Given the description of an element on the screen output the (x, y) to click on. 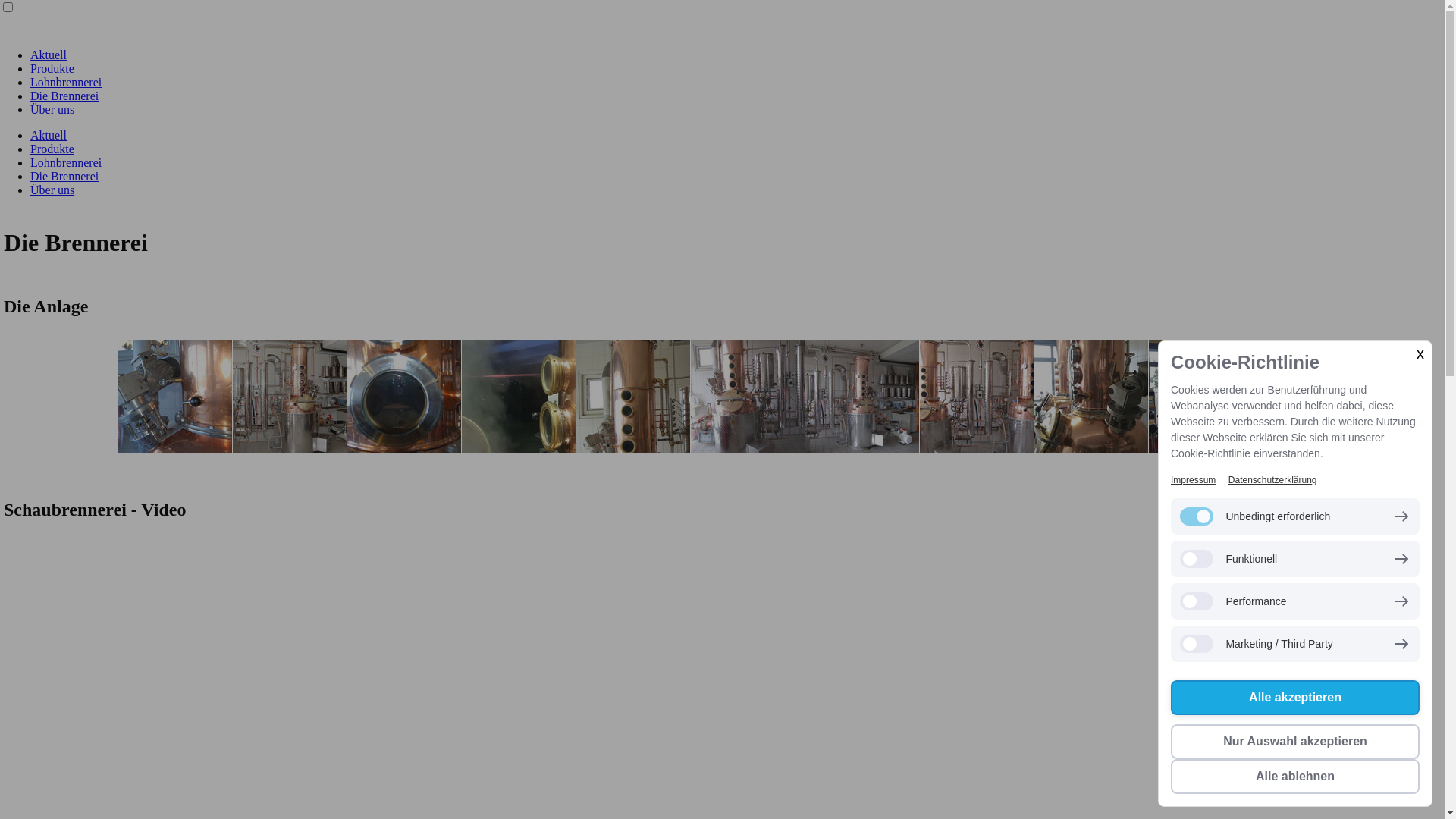
Lohnbrennerei Element type: text (65, 81)
Aktuell Element type: text (48, 134)
Alle akzeptieren Element type: text (1294, 697)
Lohnbrennerei Element type: text (65, 162)
Produkte Element type: text (52, 148)
Aktuell Element type: text (48, 54)
Impressum Element type: text (1192, 479)
Nur Auswahl akzeptieren Element type: text (1294, 741)
Produkte Element type: text (52, 68)
Die Brennerei Element type: text (64, 175)
Die Brennerei Element type: text (64, 95)
Alle ablehnen Element type: text (1294, 776)
